Given the description of an element on the screen output the (x, y) to click on. 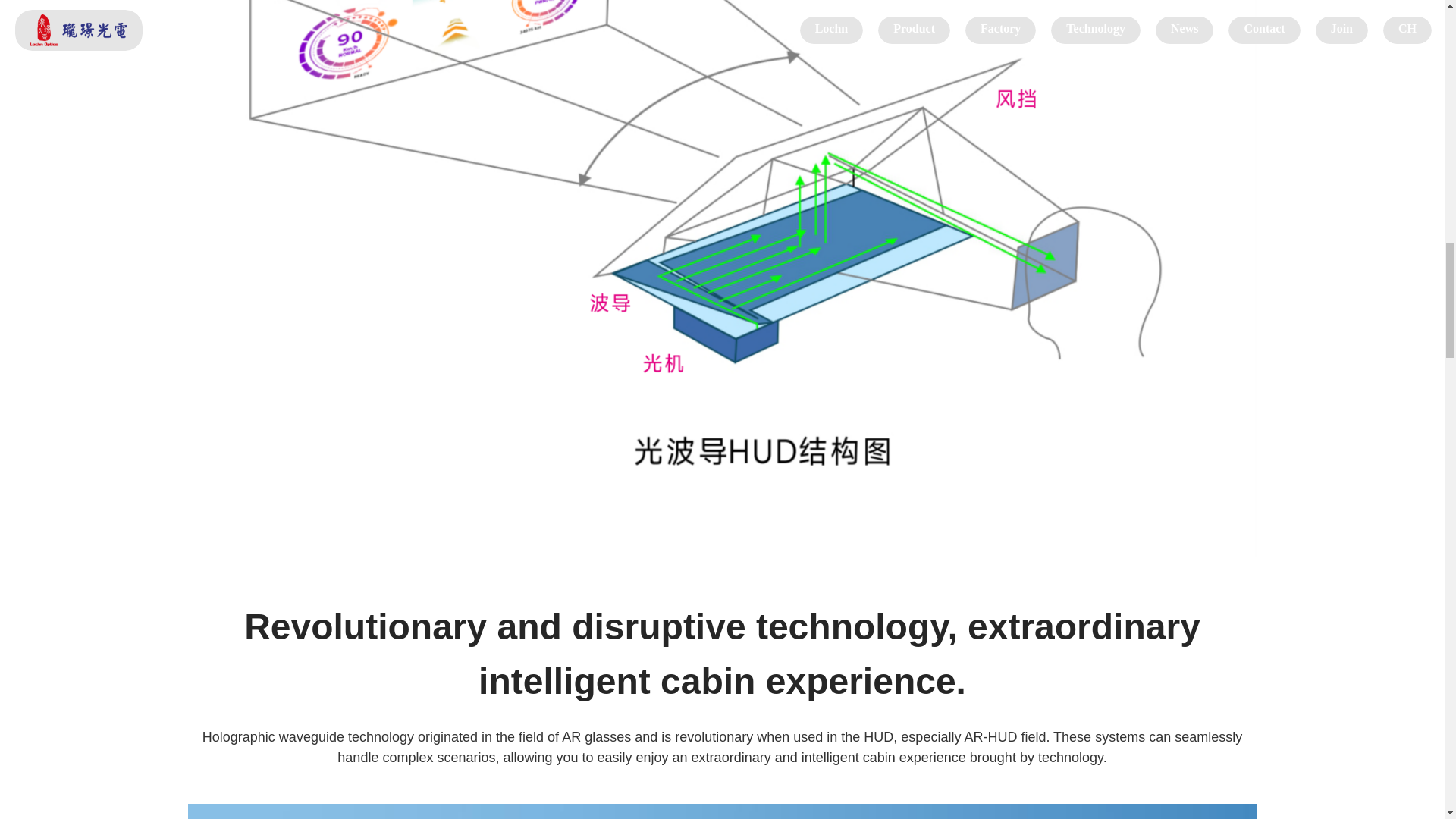
1682505908154335.jpg (722, 811)
